Given the description of an element on the screen output the (x, y) to click on. 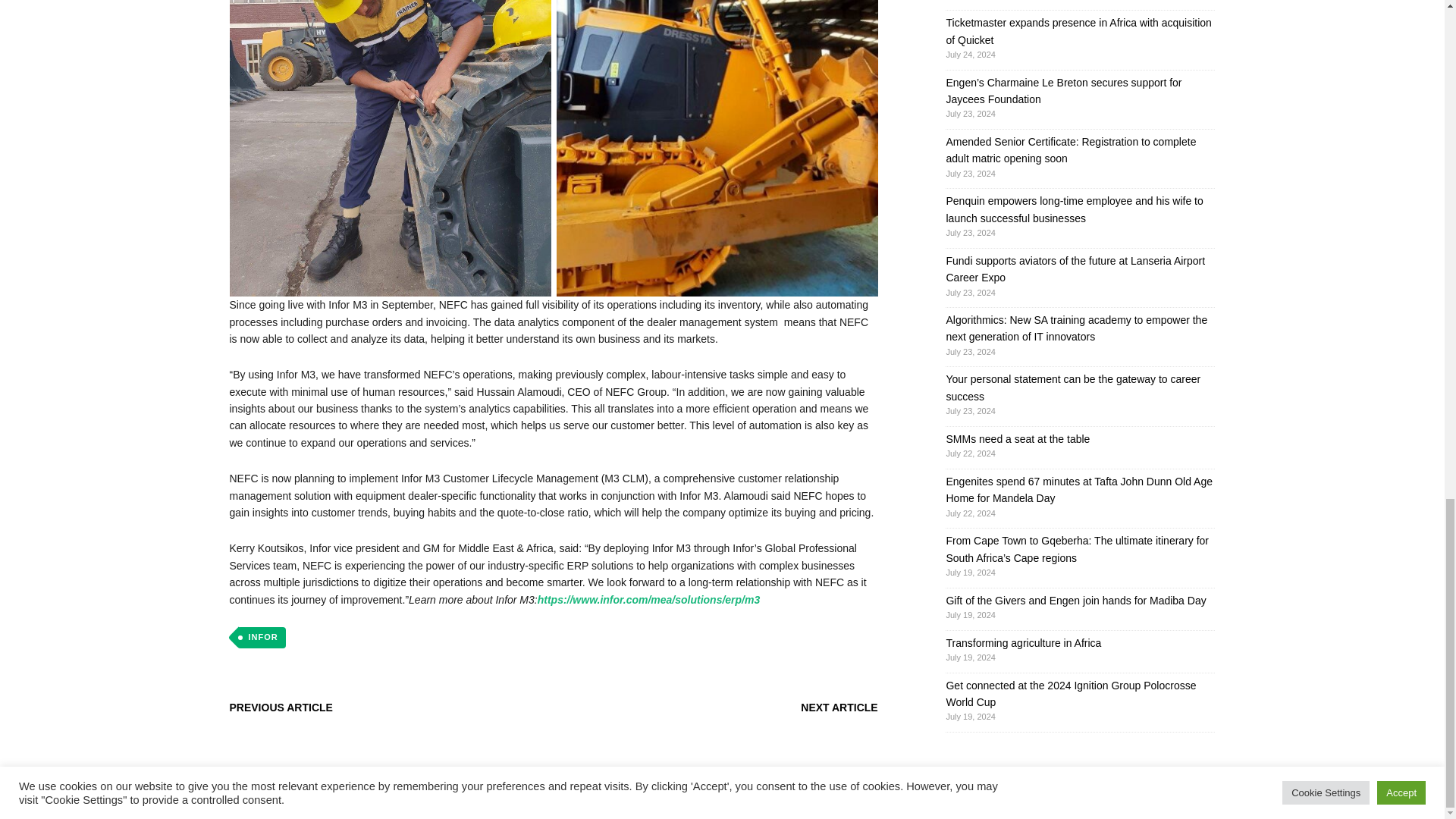
PREVIOUS ARTICLE (279, 707)
NEXT ARTICLE (838, 707)
INFOR (260, 637)
